Given the description of an element on the screen output the (x, y) to click on. 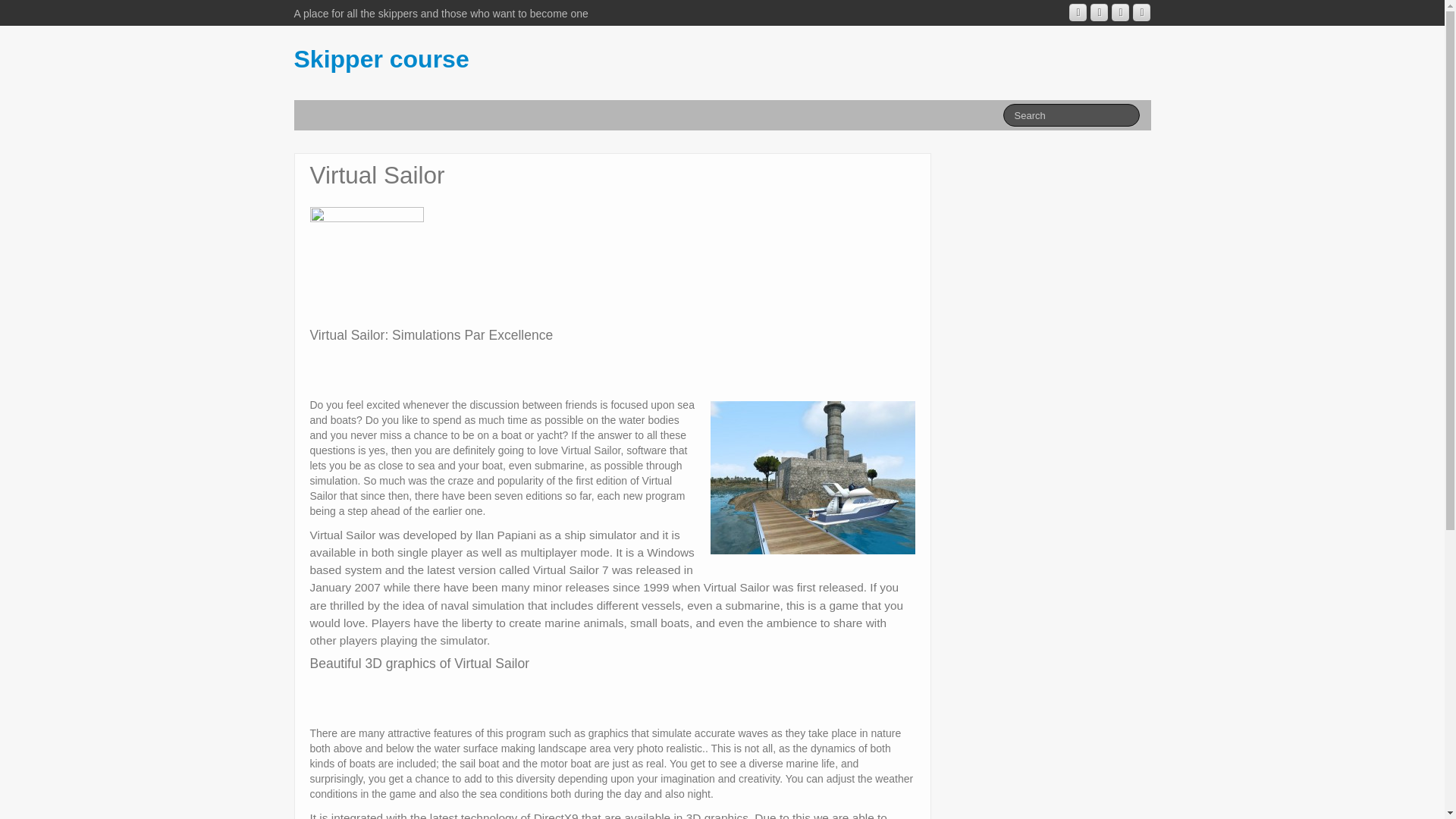
Permalink to Virtual Sailor (365, 263)
Skipper course Googleplus (1077, 12)
Skipper course (381, 58)
virtual sailor game (812, 477)
Skipper course Vimeo (1120, 12)
Skipper course Facebook (1099, 12)
Skipper course (381, 58)
Skipper course Twitter (1141, 12)
